Given the description of an element on the screen output the (x, y) to click on. 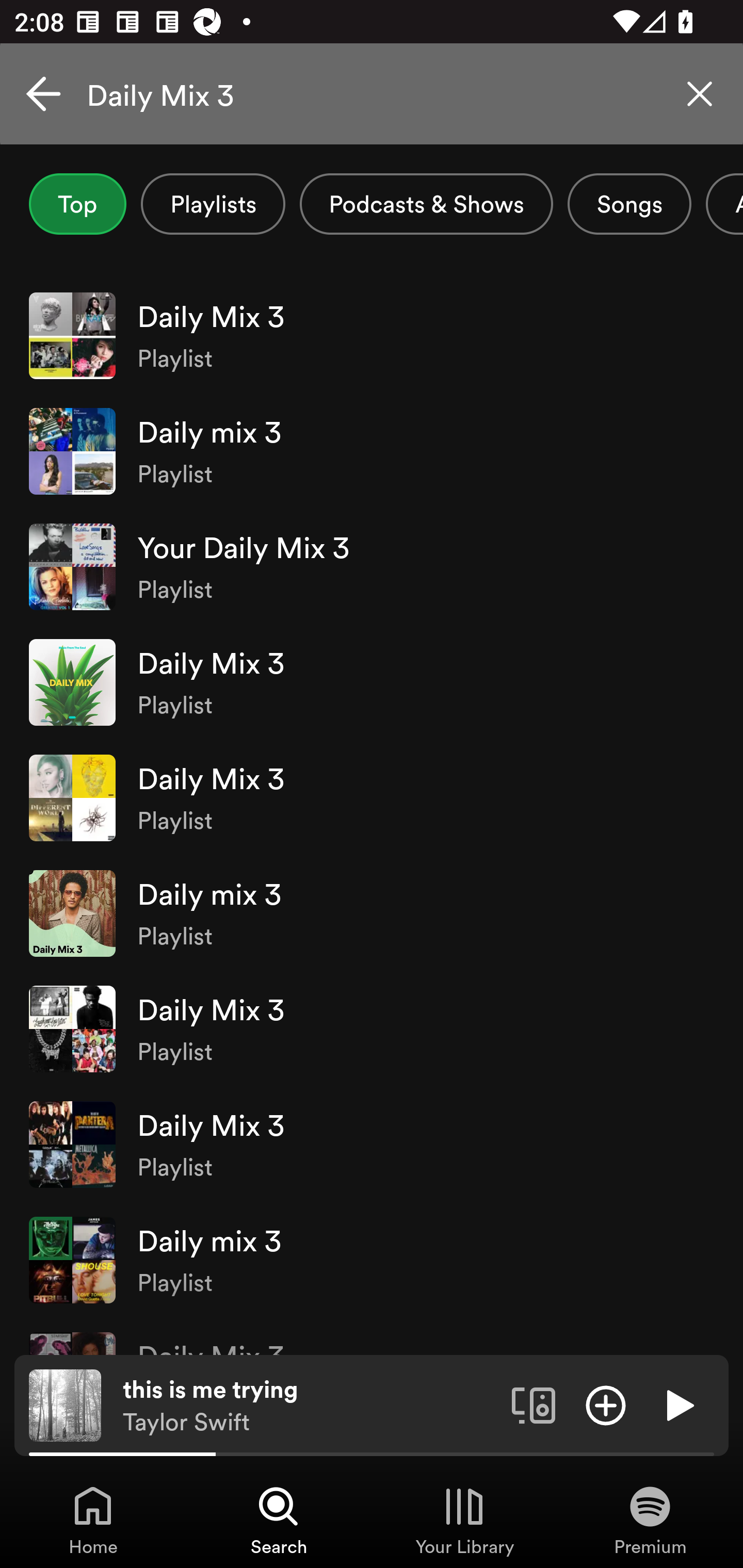
Daily Mix 3 (371, 93)
Cancel (43, 93)
Clear search query (699, 93)
Top (77, 203)
Playlists (213, 203)
Podcasts & Shows (425, 203)
Songs (629, 203)
Daily Mix 3 Playlist (371, 335)
Daily mix 3 Playlist (371, 451)
Your Daily Mix 3 Playlist (371, 566)
Daily Mix 3 Playlist (371, 682)
Daily Mix 3 Playlist (371, 798)
Daily mix 3 Playlist (371, 913)
Daily Mix 3 Playlist (371, 1028)
Daily Mix 3 Playlist (371, 1144)
Daily mix 3 Playlist (371, 1259)
this is me trying Taylor Swift (309, 1405)
The cover art of the currently playing track (64, 1404)
Connect to a device. Opens the devices menu (533, 1404)
